Given the description of an element on the screen output the (x, y) to click on. 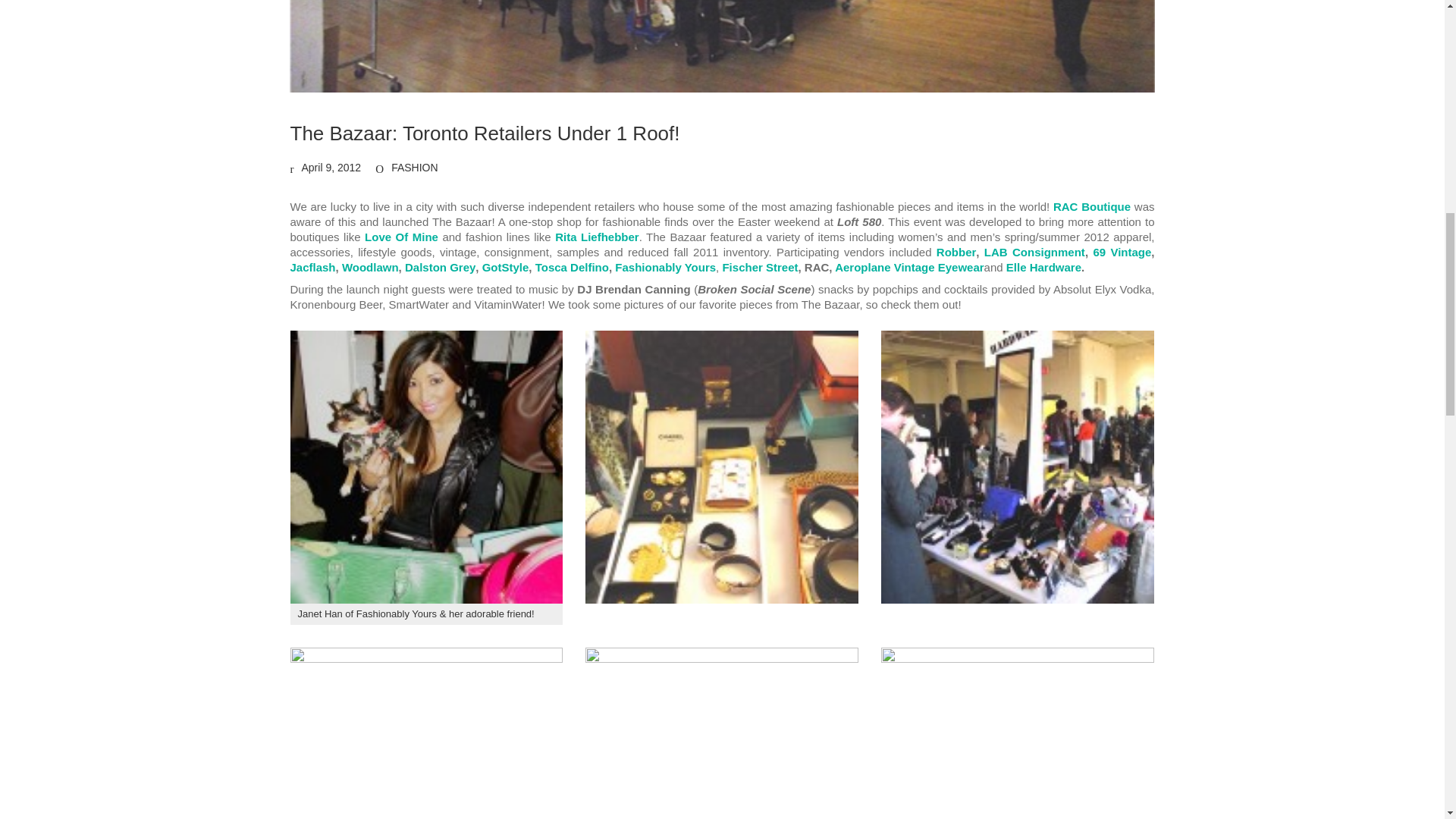
Jacflash (311, 267)
Dalston Grey (440, 267)
GotStyle (505, 267)
Rita Liefhebber (596, 236)
69 Vintage (1122, 251)
RAC Boutique (1091, 205)
Love Of Mine (401, 236)
Robber (956, 251)
FASHION (414, 167)
Fischer Street (759, 267)
Aeroplane Vintage Eyewear (909, 267)
Woodlawn (370, 267)
Elle Hardware (1043, 267)
Tosca Delfino (571, 267)
Fashionably Yours (665, 267)
